Given the description of an element on the screen output the (x, y) to click on. 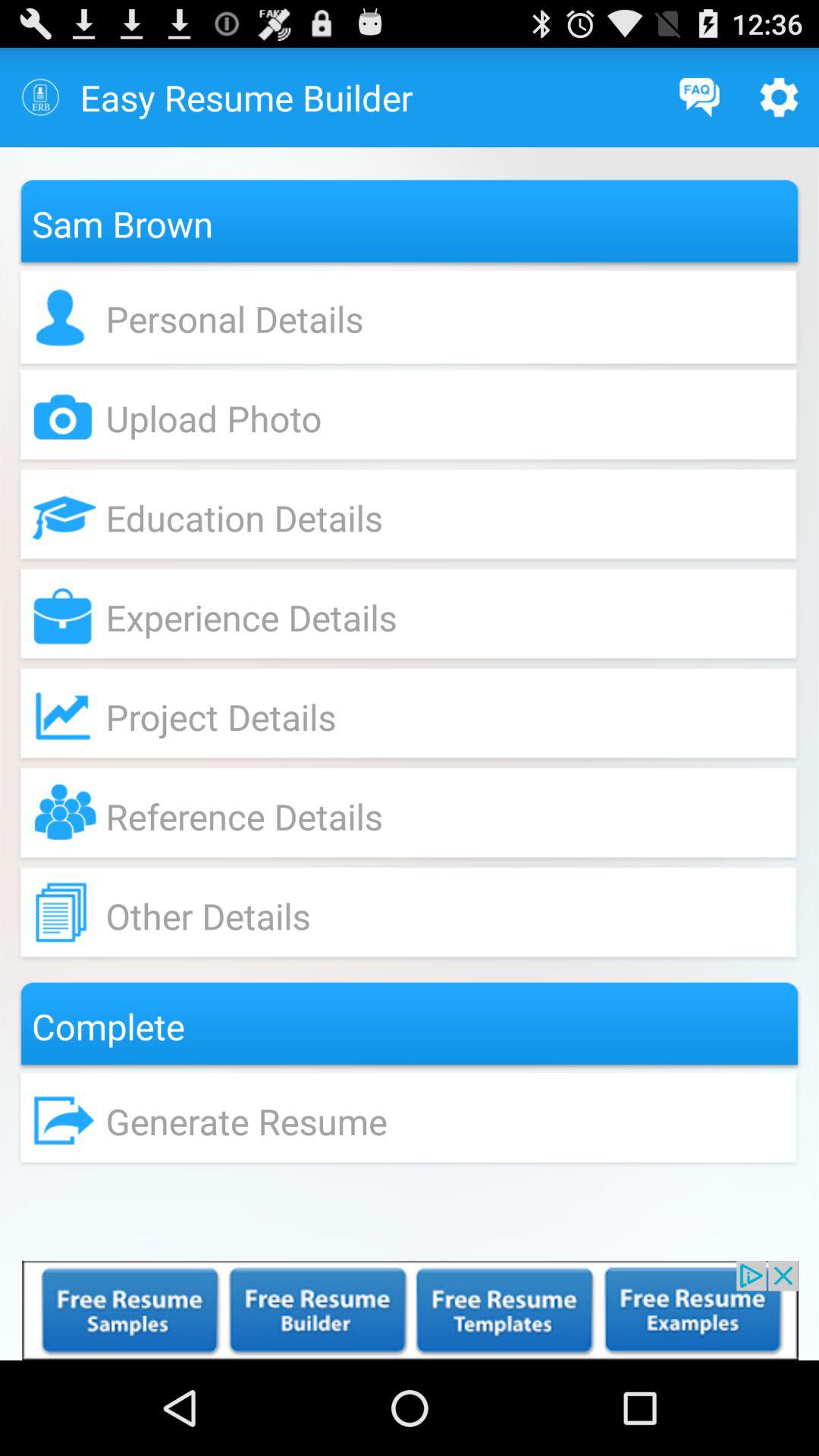
go to settings (779, 97)
